Given the description of an element on the screen output the (x, y) to click on. 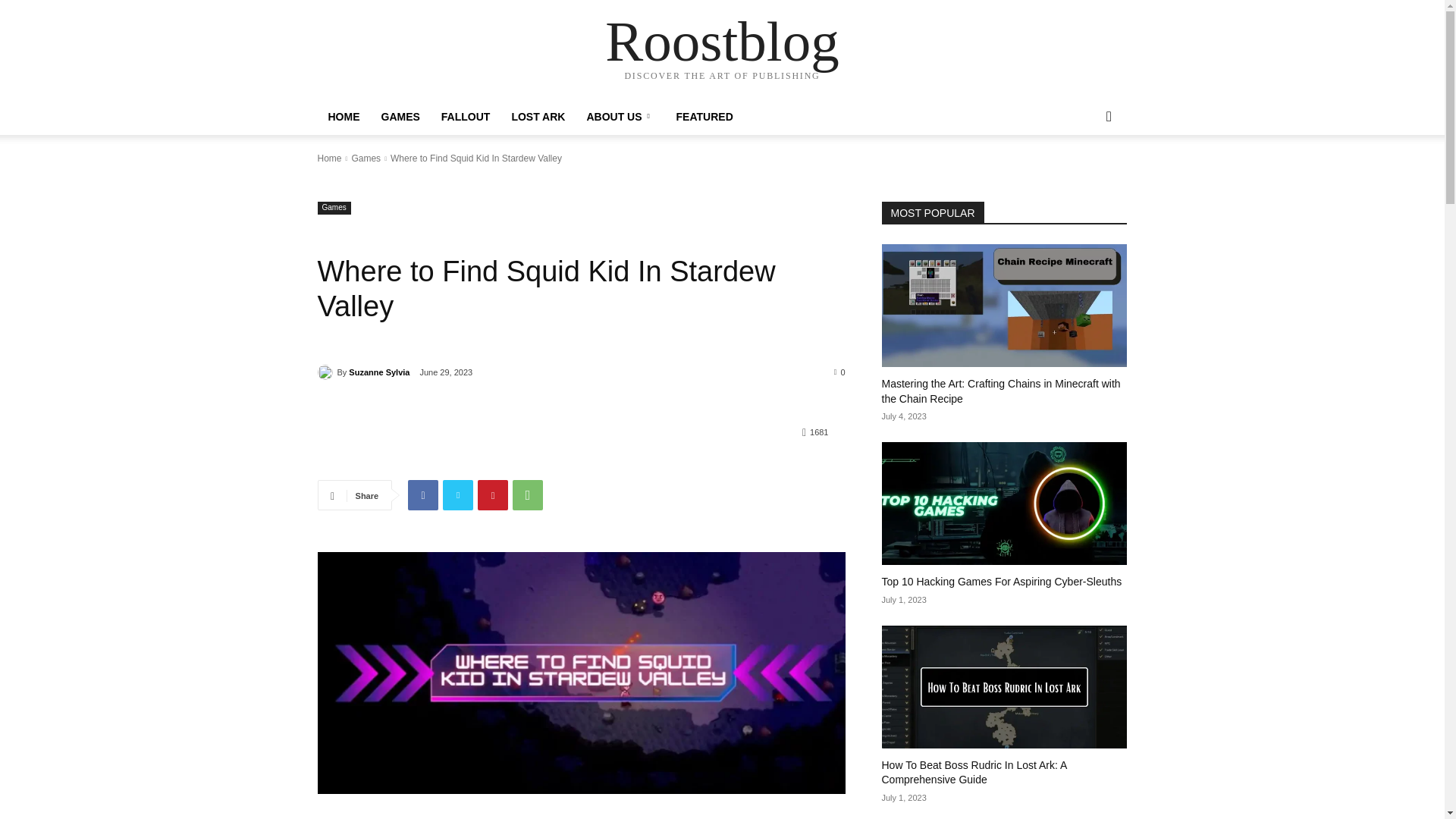
FEATURED (704, 116)
View all posts in Games (365, 158)
GAMES (399, 116)
WhatsApp (527, 494)
HOME (343, 116)
Search (1085, 177)
Pinterest (492, 494)
Twitter (457, 494)
FALLOUT (465, 116)
Facebook (422, 494)
LOST ARK (537, 116)
Squid Kid In Stardew Valley (580, 672)
Suzanne Sylvia (326, 372)
ABOUT US (620, 116)
Roostblog (721, 41)
